Given the description of an element on the screen output the (x, y) to click on. 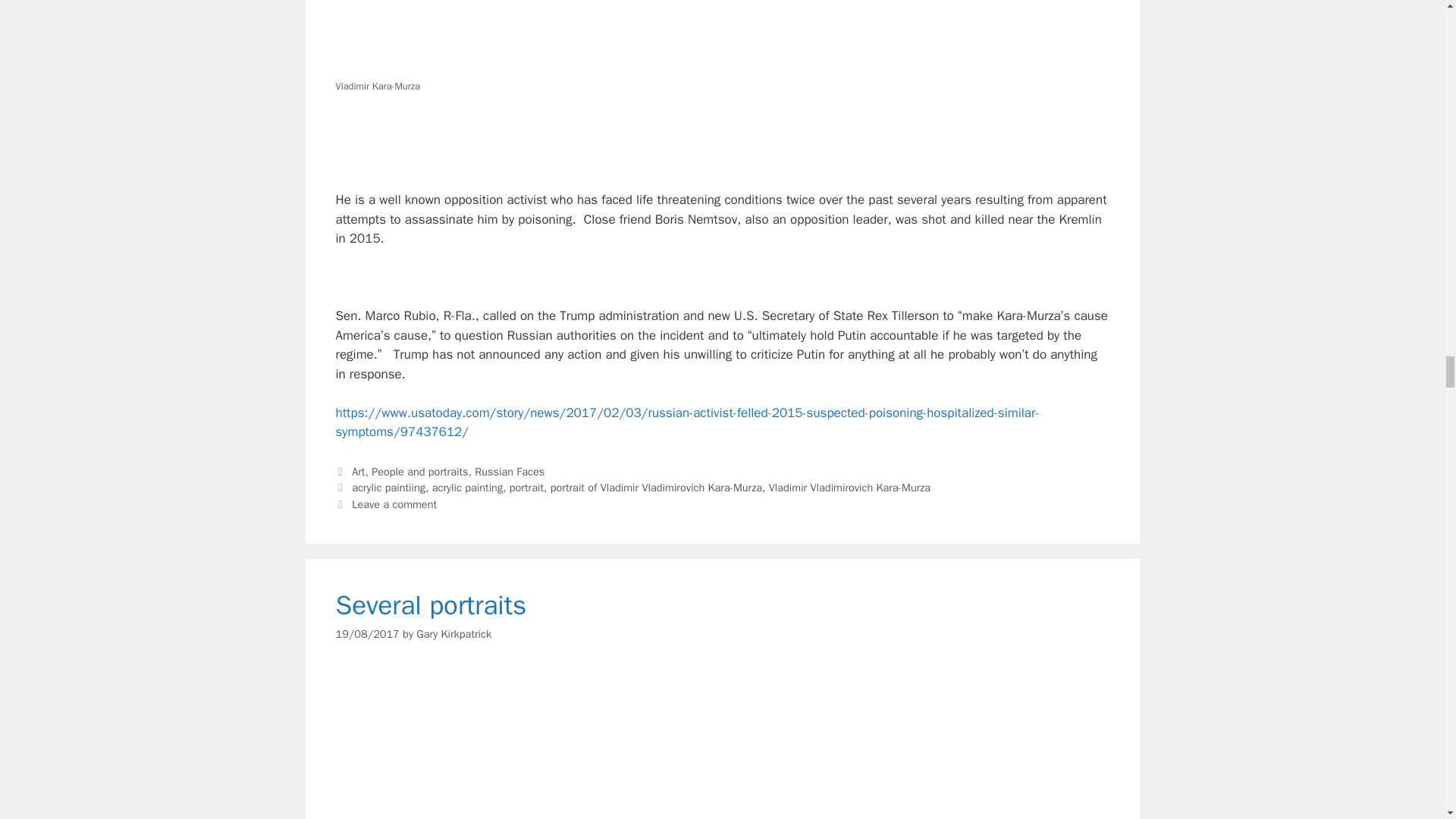
View all posts by Gary Kirkpatrick (454, 632)
